Given the description of an element on the screen output the (x, y) to click on. 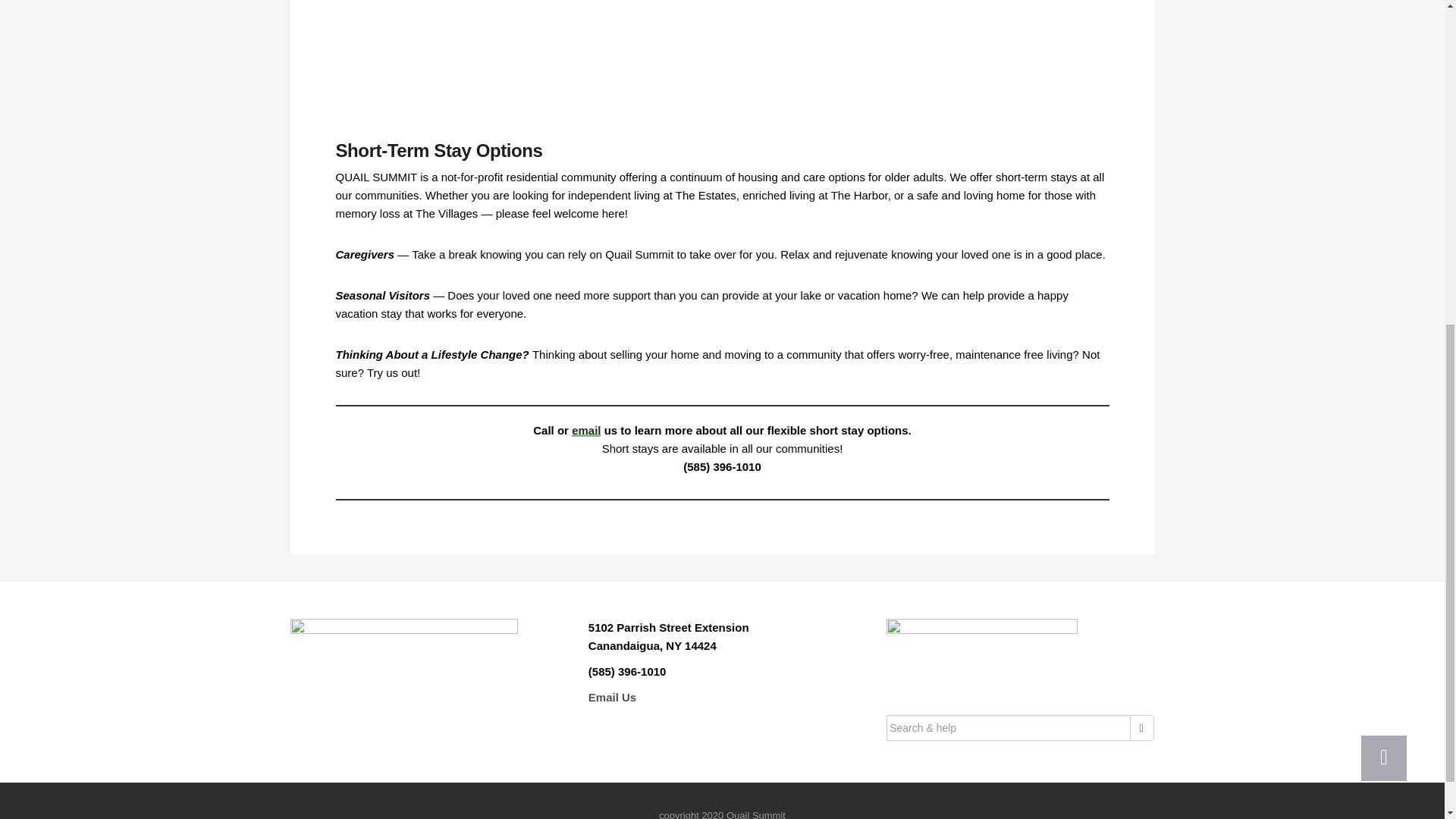
email (585, 430)
Email Us (612, 697)
